Given the description of an element on the screen output the (x, y) to click on. 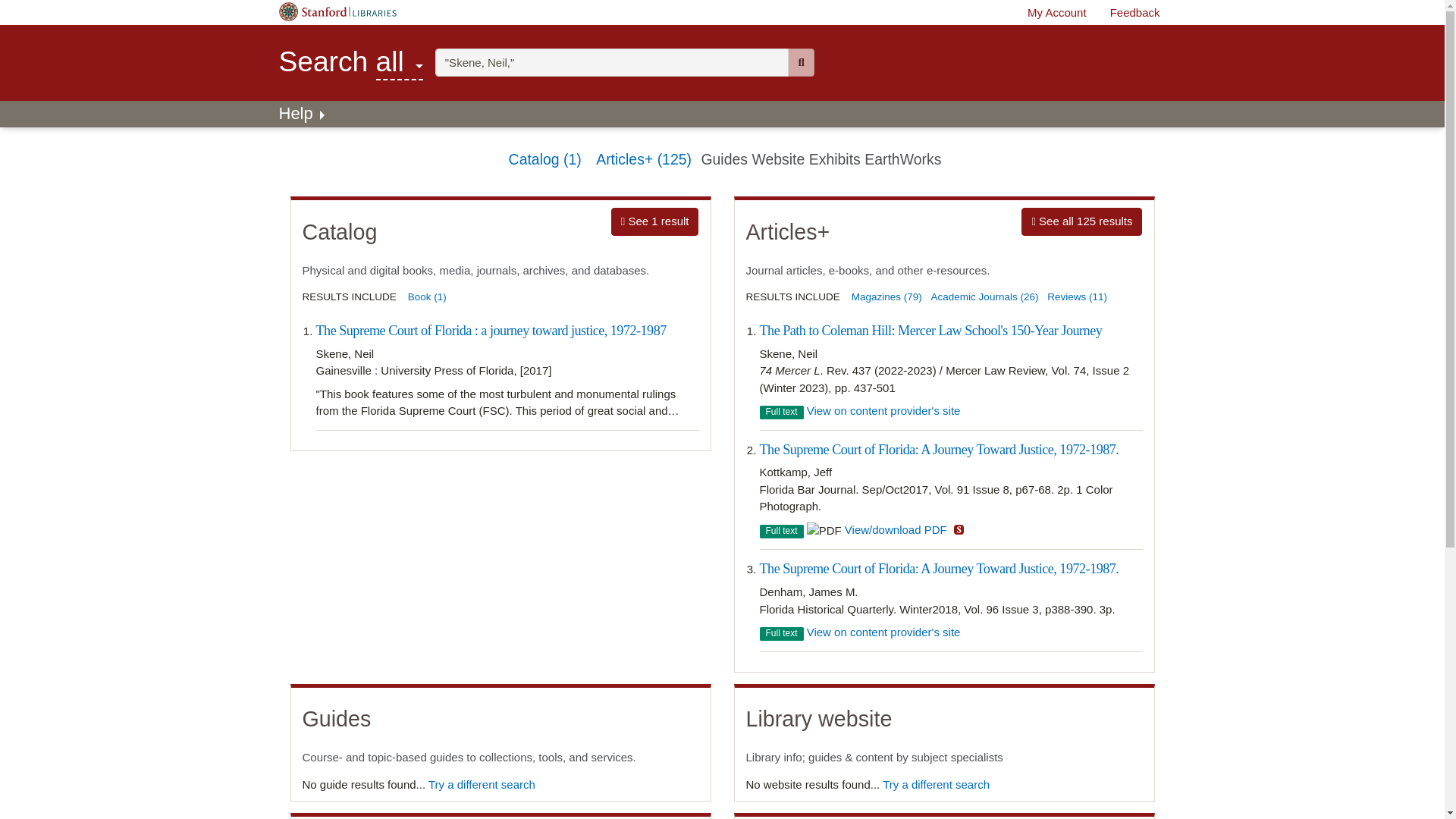
"Skene, Neil," (612, 62)
Try a different search (654, 221)
View on content provider's site (481, 784)
View on content provider's site (883, 410)
Skip to search (883, 631)
Help (800, 62)
"Skene, Neil," (302, 113)
My Account (612, 62)
Feedback (1057, 12)
